Given the description of an element on the screen output the (x, y) to click on. 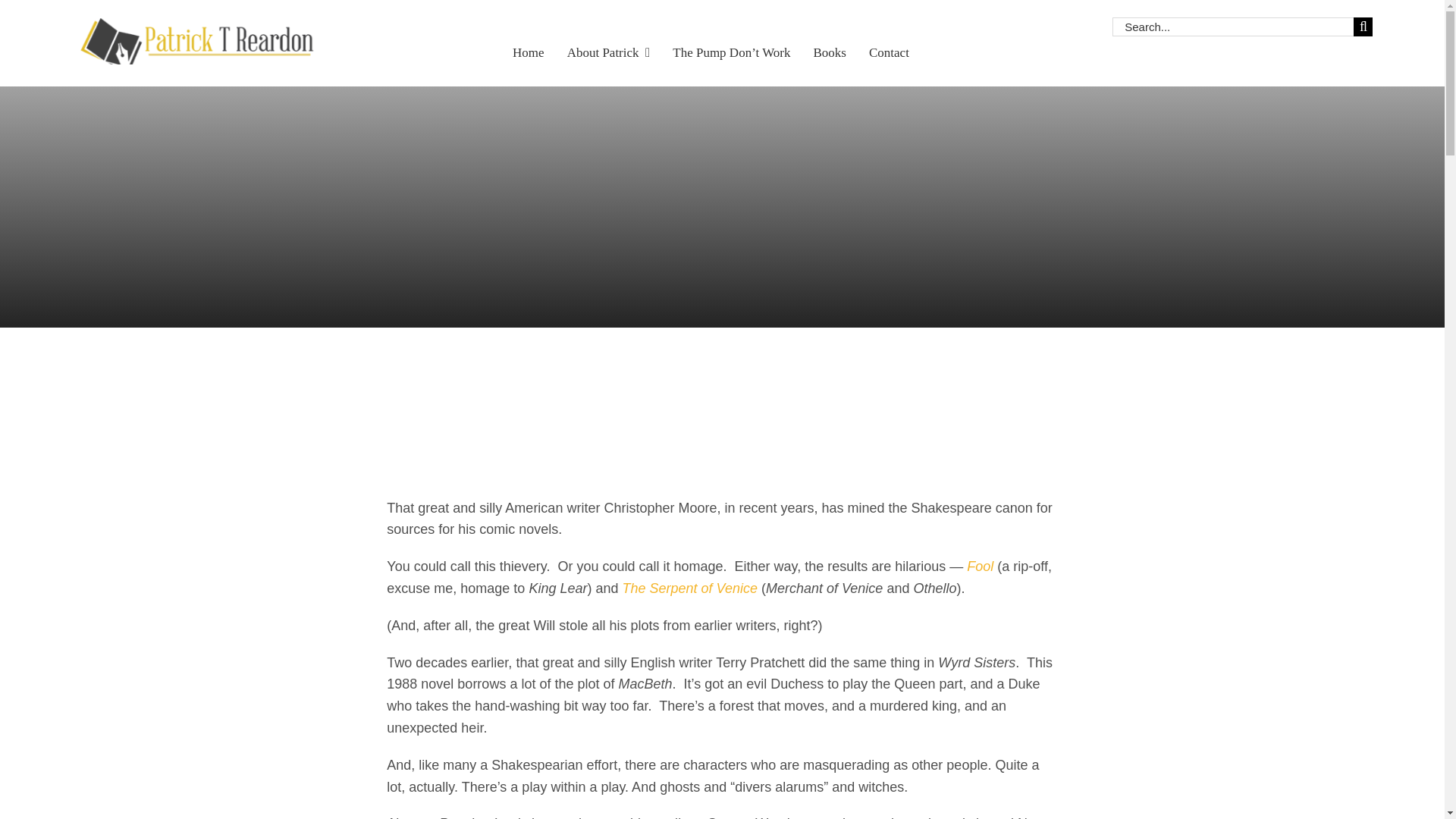
Fool (981, 566)
About Patrick (608, 42)
The Serpent of Venice (690, 588)
